Given the description of an element on the screen output the (x, y) to click on. 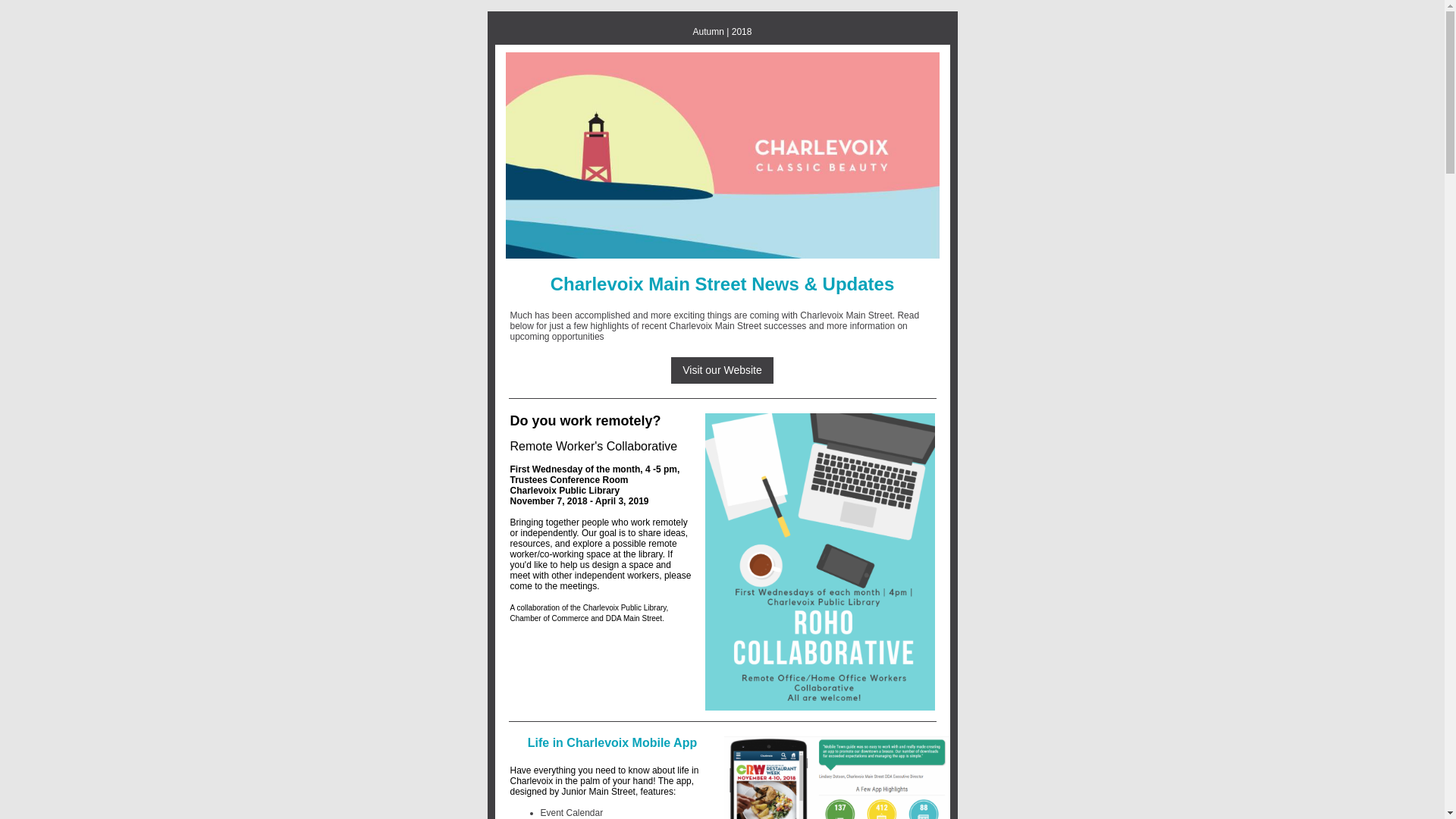
Visit our Website (721, 369)
